Given the description of an element on the screen output the (x, y) to click on. 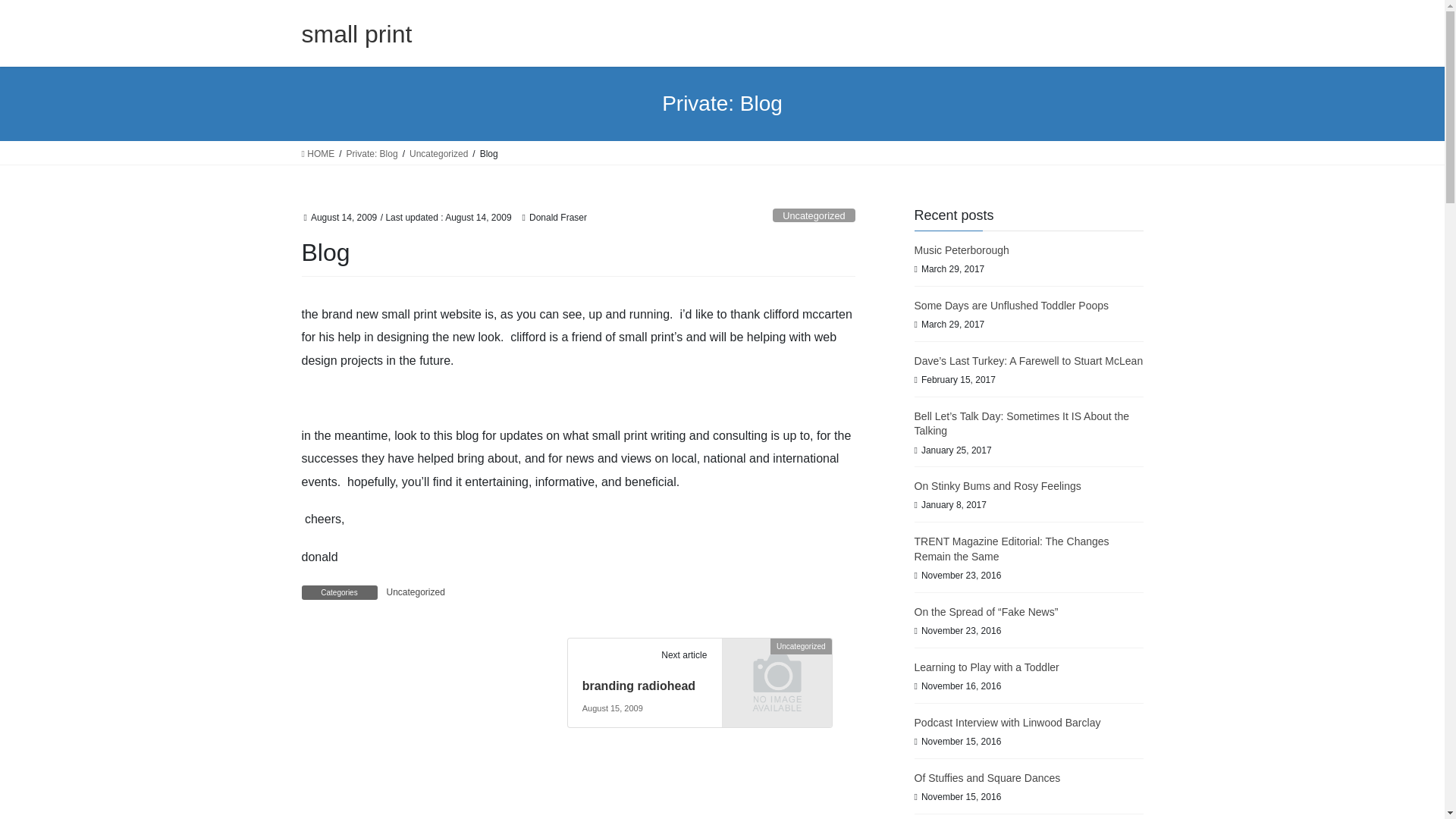
TRENT Magazine Editorial: The Changes Remain the Same (1011, 548)
HOME (317, 153)
Private: Blog (371, 153)
Uncategorized (438, 153)
Podcast Interview with Linwood Barclay (1007, 722)
Uncategorized (776, 671)
Uncategorized (813, 215)
branding radiohead (638, 685)
Uncategorized (415, 592)
On Stinky Bums and Rosy Feelings (997, 485)
